Given the description of an element on the screen output the (x, y) to click on. 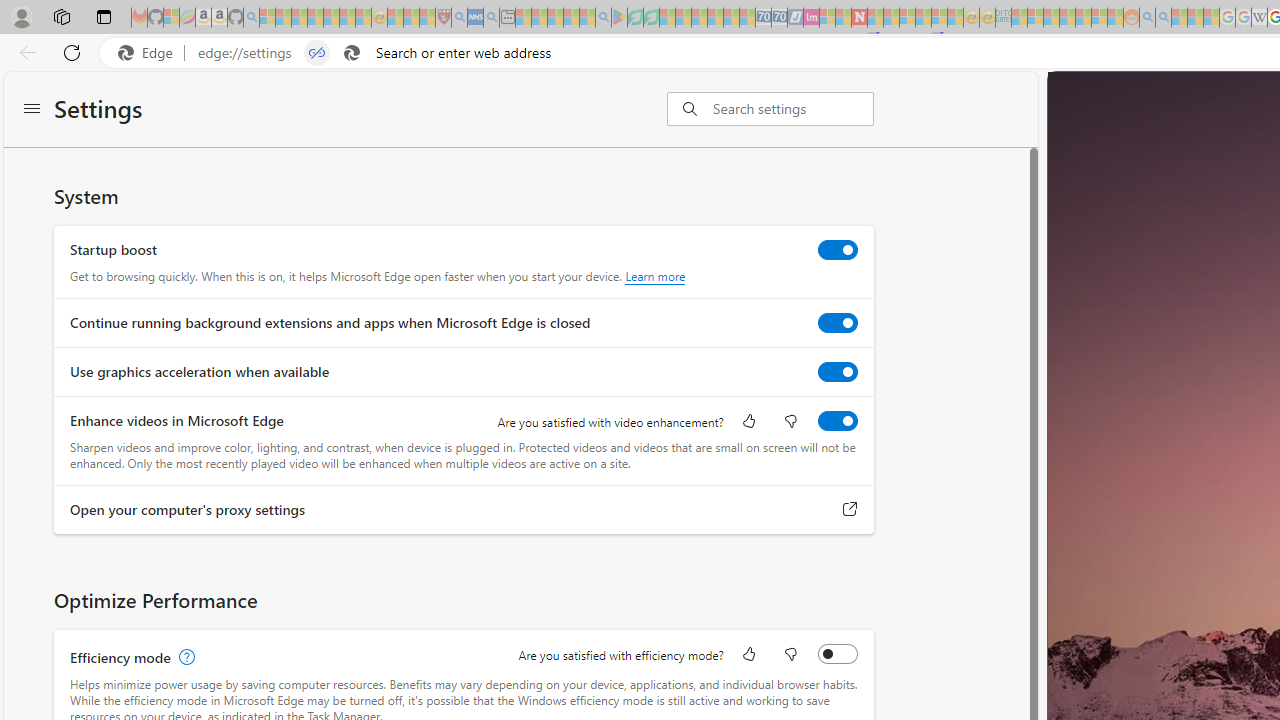
Learn more (655, 276)
Search icon (351, 53)
